Given the description of an element on the screen output the (x, y) to click on. 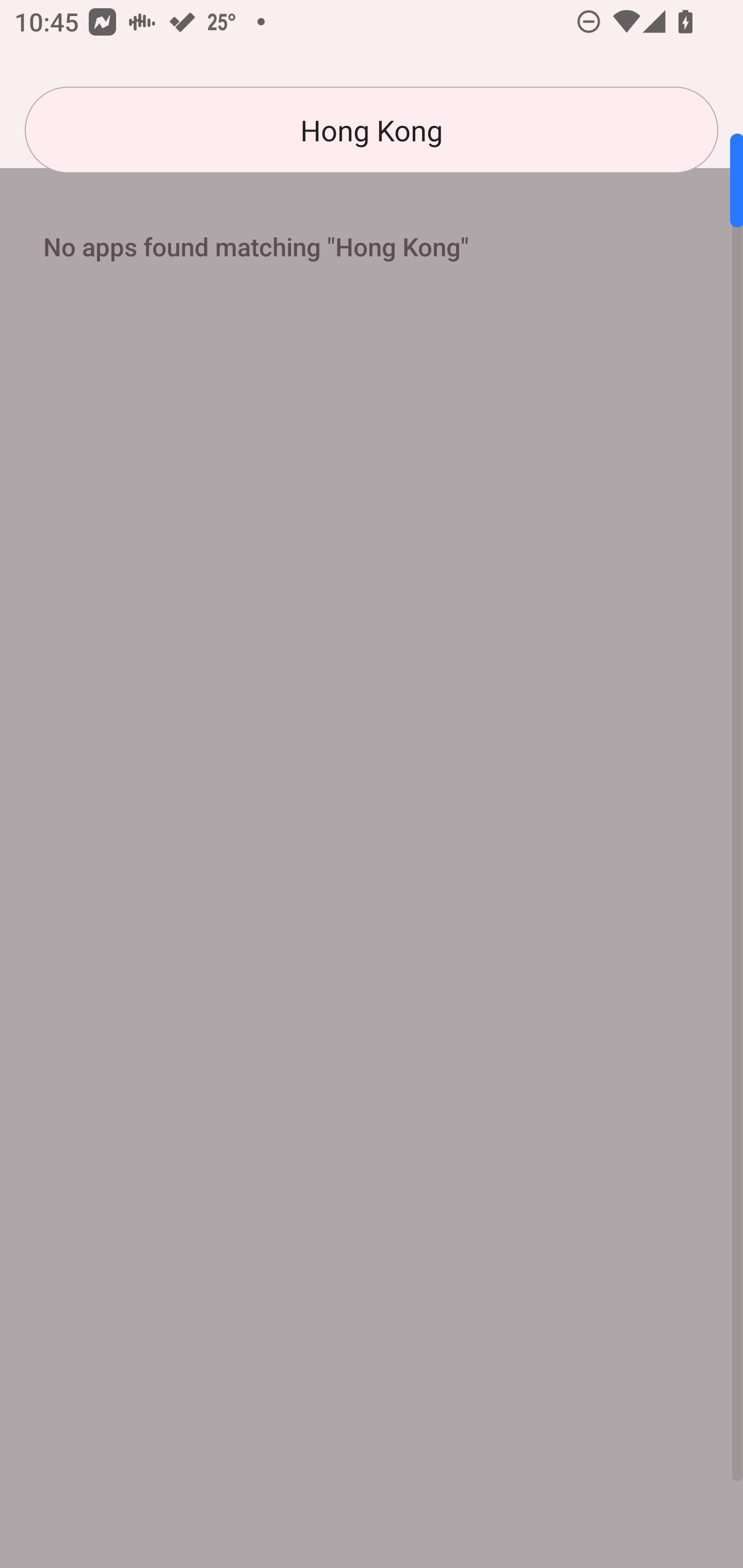
Hong Kong (371, 130)
